Given the description of an element on the screen output the (x, y) to click on. 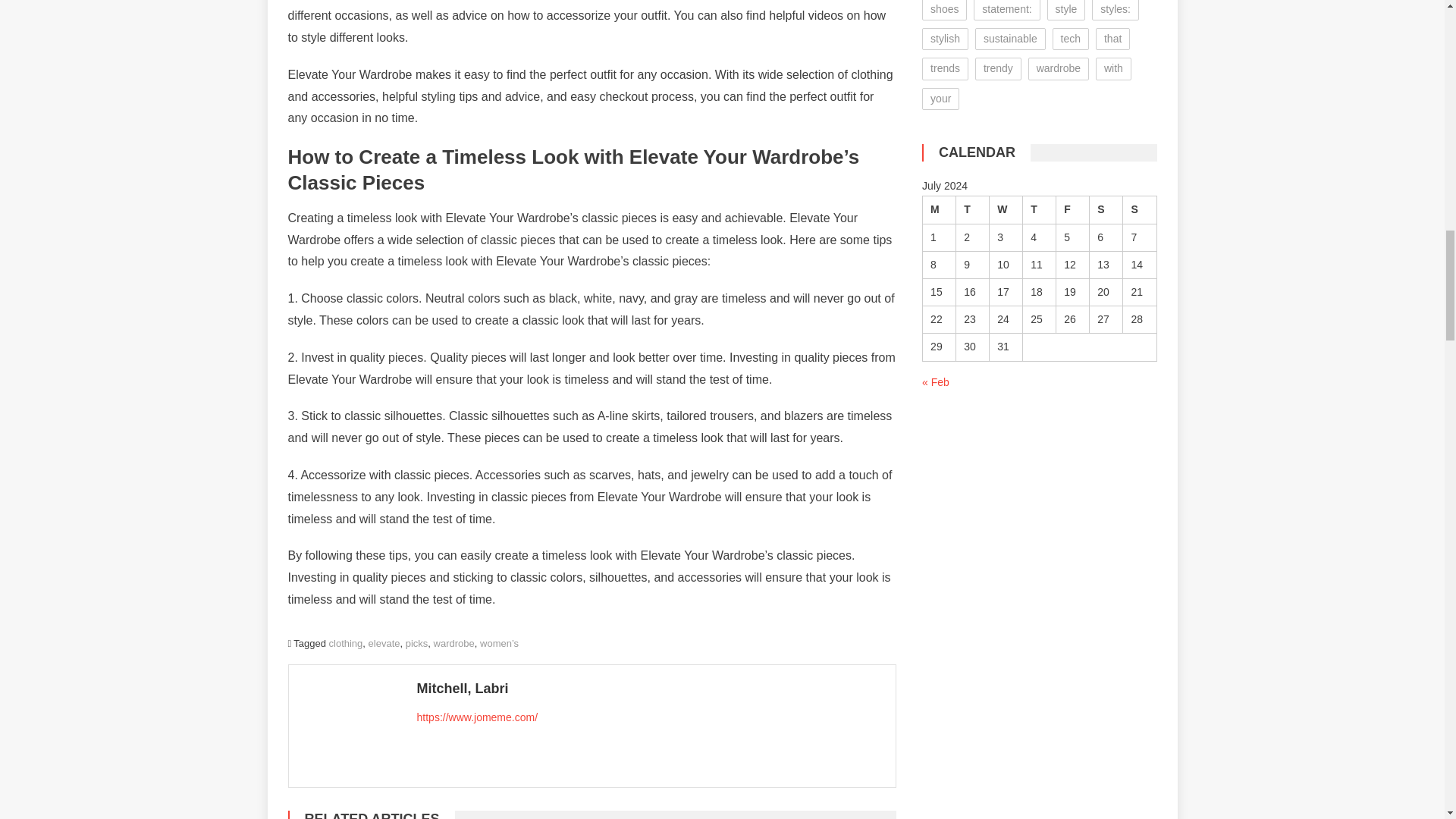
Thursday (1040, 209)
Saturday (1105, 209)
wardrobe (453, 643)
Friday (1073, 209)
Wednesday (1006, 209)
Monday (939, 209)
Mitchell, Labri (649, 688)
clothing (345, 643)
Tuesday (973, 209)
Sunday (1139, 209)
picks (417, 643)
elevate (384, 643)
